Given the description of an element on the screen output the (x, y) to click on. 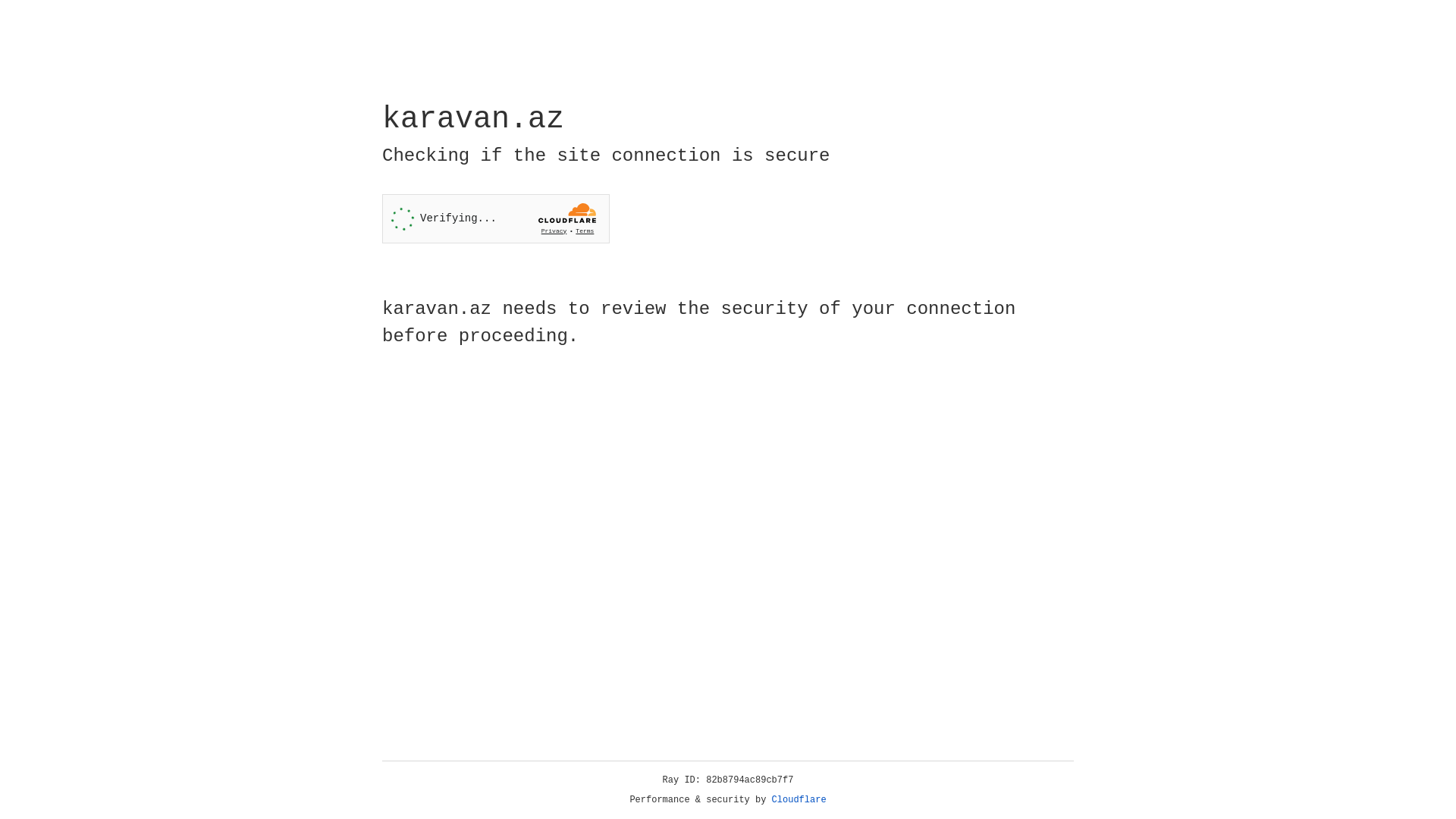
Cloudflare Element type: text (798, 799)
Widget containing a Cloudflare security challenge Element type: hover (495, 218)
